Given the description of an element on the screen output the (x, y) to click on. 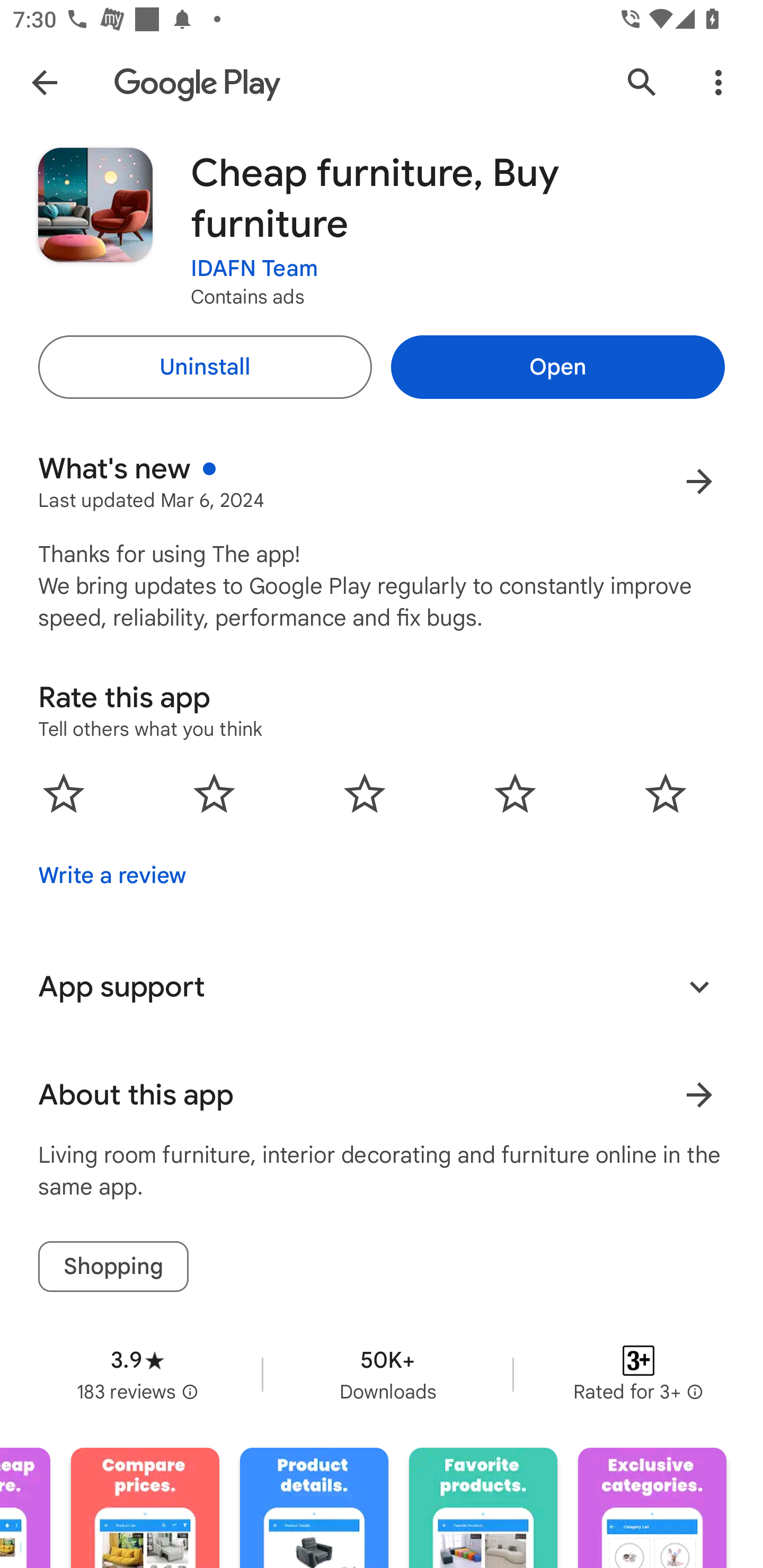
Navigate up (44, 81)
Search Google Play (642, 81)
More Options (718, 81)
IDAFN Team (254, 268)
Uninstall (205, 366)
Open (557, 366)
More results for What's new (699, 481)
0.0 (364, 792)
Write a review (112, 875)
App support Expand (381, 986)
Expand (699, 986)
About this app Learn more About this app (381, 1094)
Learn more About this app (699, 1094)
Shopping tag (113, 1265)
Average rating 3.9 stars in 183 reviews (137, 1374)
Content rating Rated for 3+ (638, 1374)
Screenshot "4" of "7" (144, 1507)
Screenshot "5" of "7" (314, 1507)
Screenshot "6" of "7" (482, 1507)
Screenshot "7" of "7" (652, 1507)
